Given the description of an element on the screen output the (x, y) to click on. 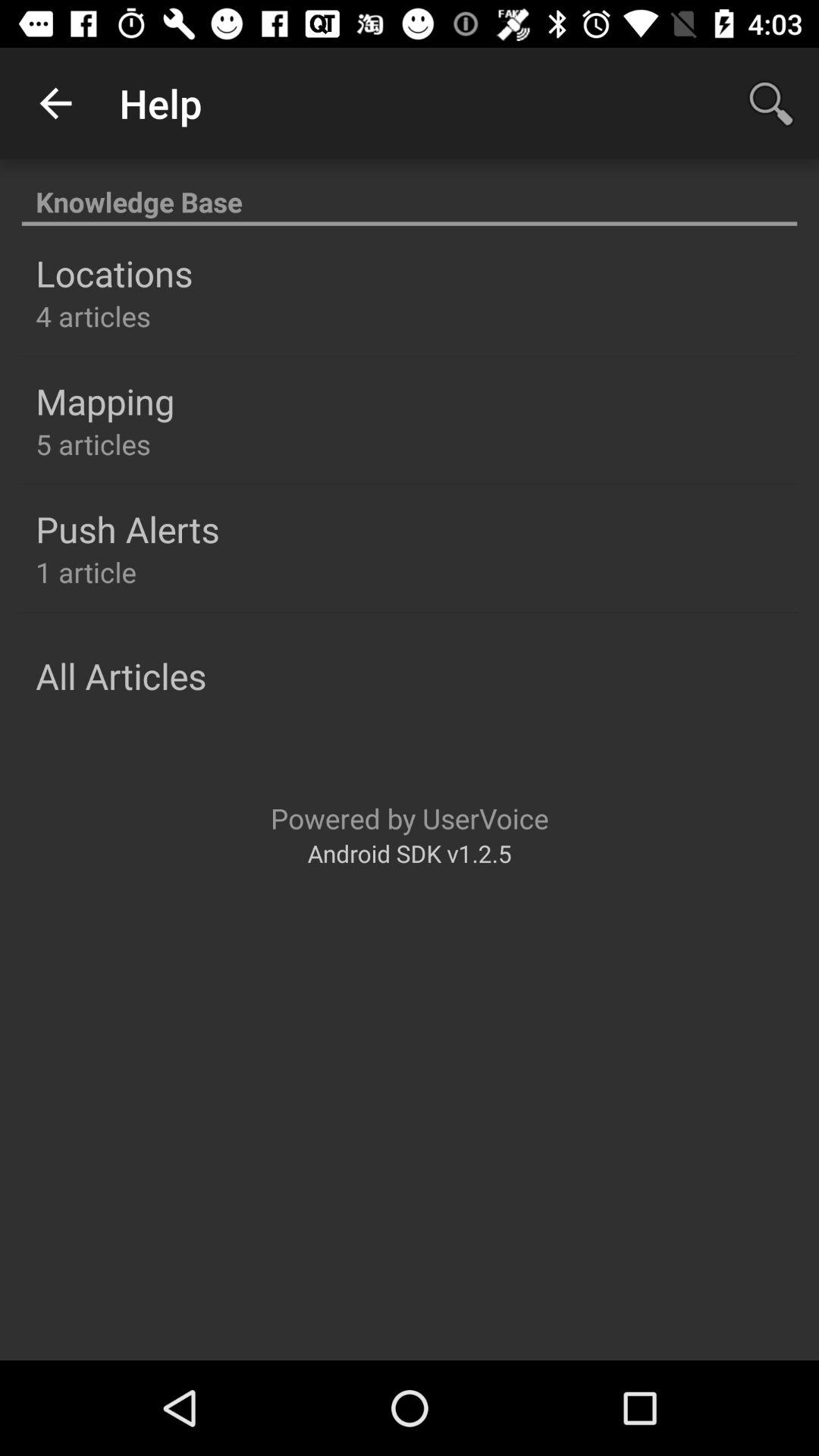
turn on app next to help item (55, 103)
